Given the description of an element on the screen output the (x, y) to click on. 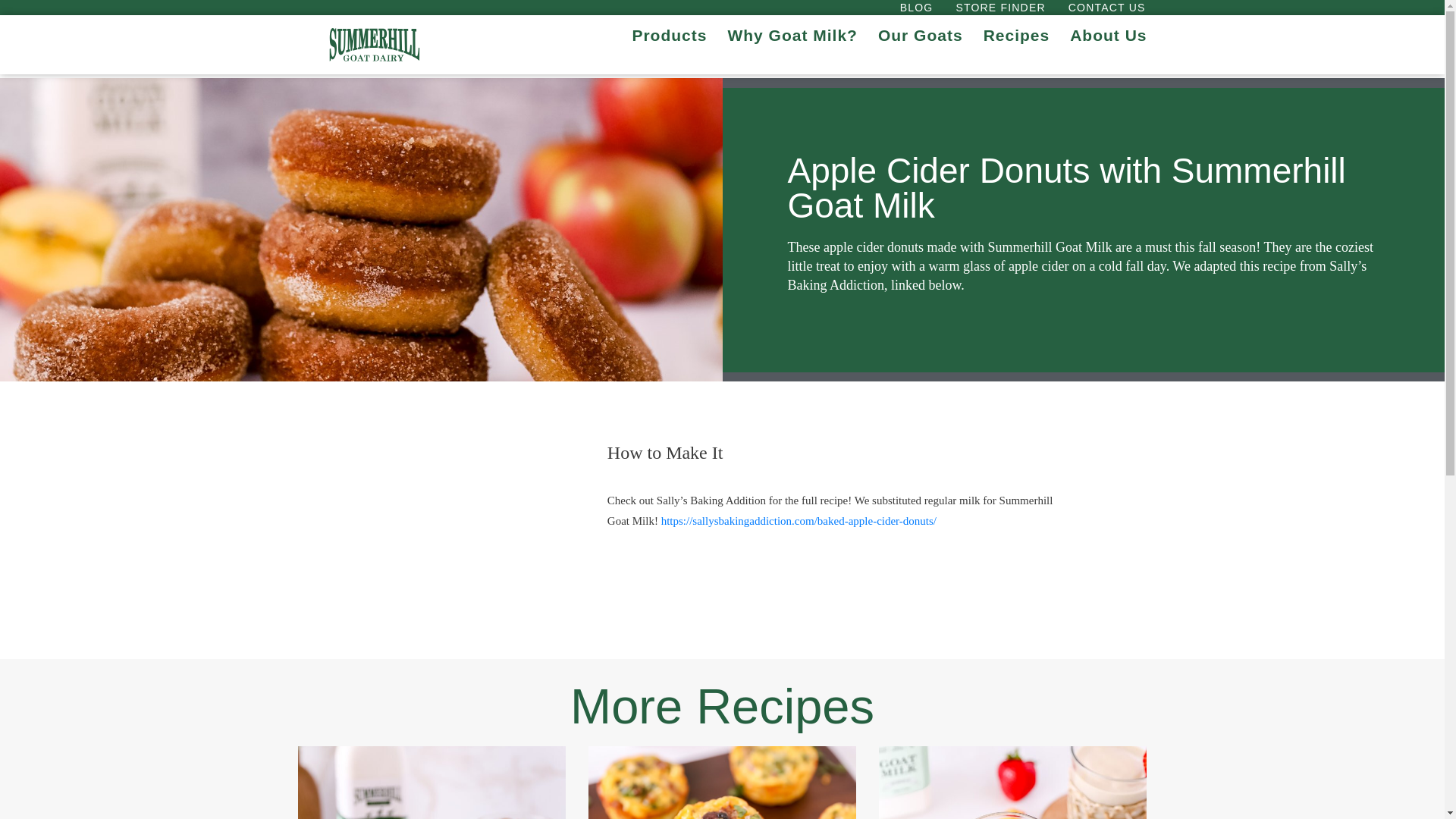
CONTACT US (1107, 6)
BLOG (916, 6)
About Us (1106, 35)
STORE FINDER (1000, 6)
Our Goats (918, 35)
Recipes (1014, 35)
Products (666, 35)
Why Goat Milk? (790, 35)
